Given the description of an element on the screen output the (x, y) to click on. 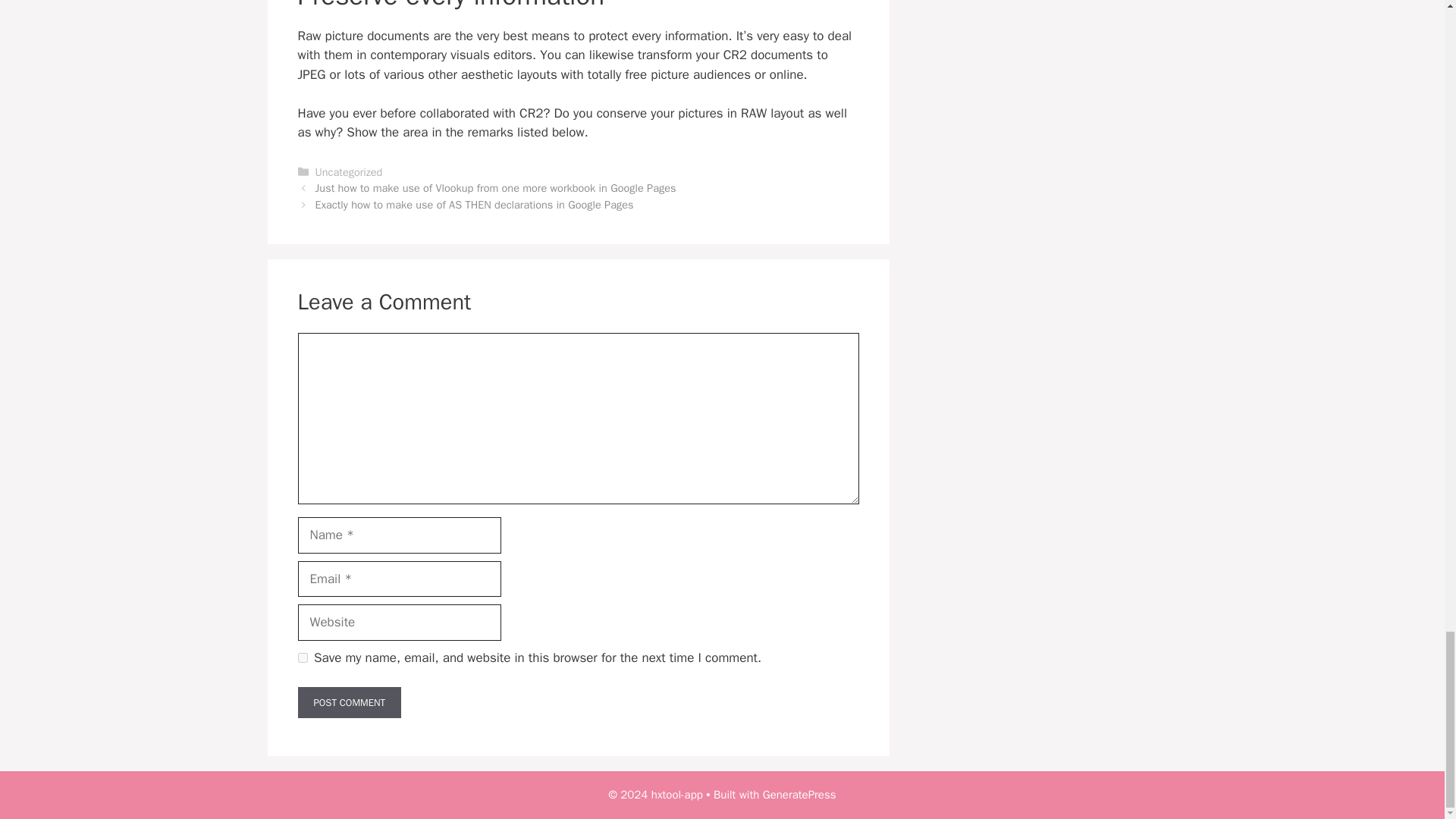
GeneratePress (798, 794)
Post Comment (349, 703)
Post Comment (349, 703)
yes (302, 657)
